Given the description of an element on the screen output the (x, y) to click on. 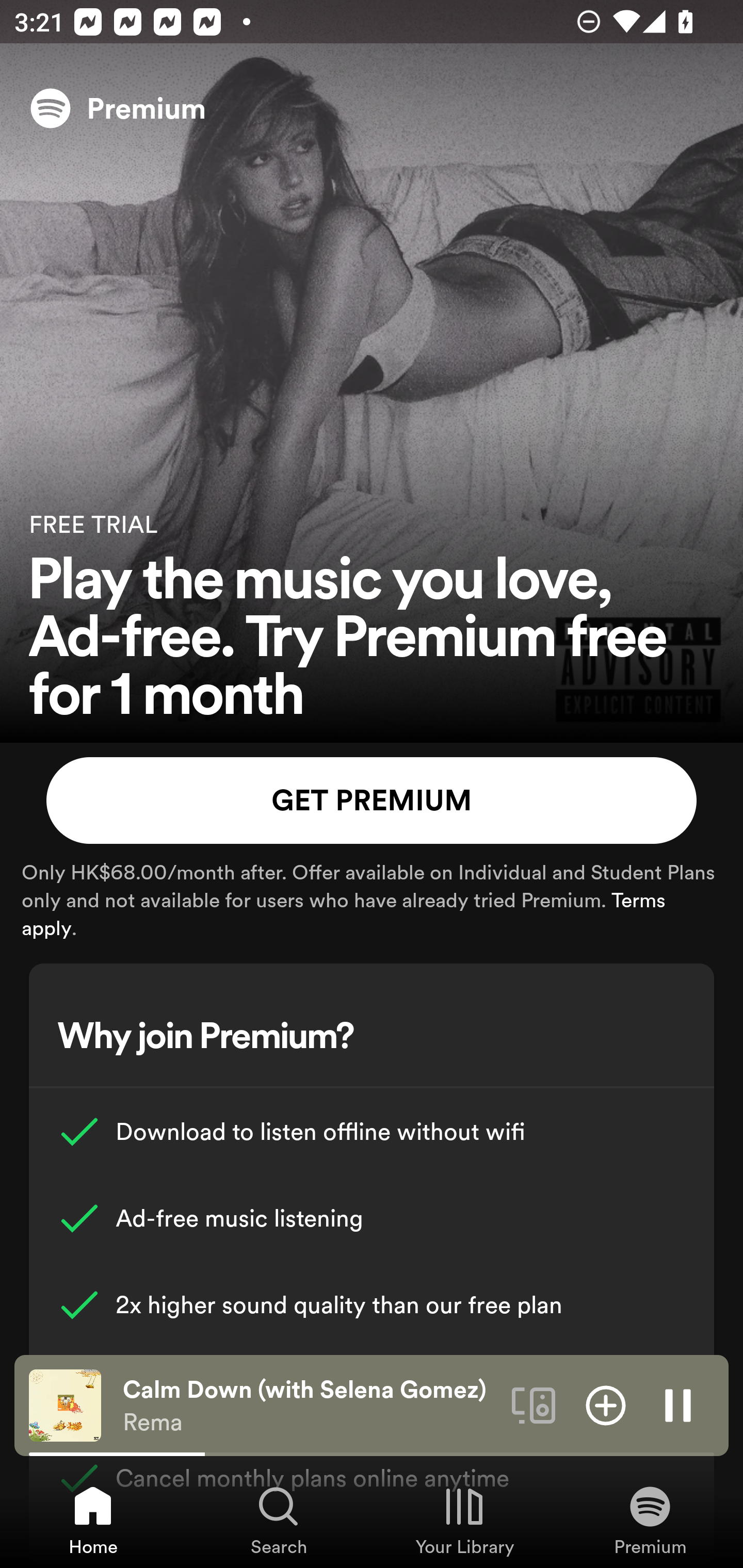
GET PREMIUM (371, 800)
Calm Down (with Selena Gomez) Rema (309, 1405)
The cover art of the currently playing track (64, 1404)
Connect to a device. Opens the devices menu (533, 1404)
Add item (605, 1404)
Pause (677, 1404)
Home, Tab 1 of 4 Home Home (92, 1519)
Search, Tab 2 of 4 Search Search (278, 1519)
Your Library, Tab 3 of 4 Your Library Your Library (464, 1519)
Premium, Tab 4 of 4 Premium Premium (650, 1519)
